Given the description of an element on the screen output the (x, y) to click on. 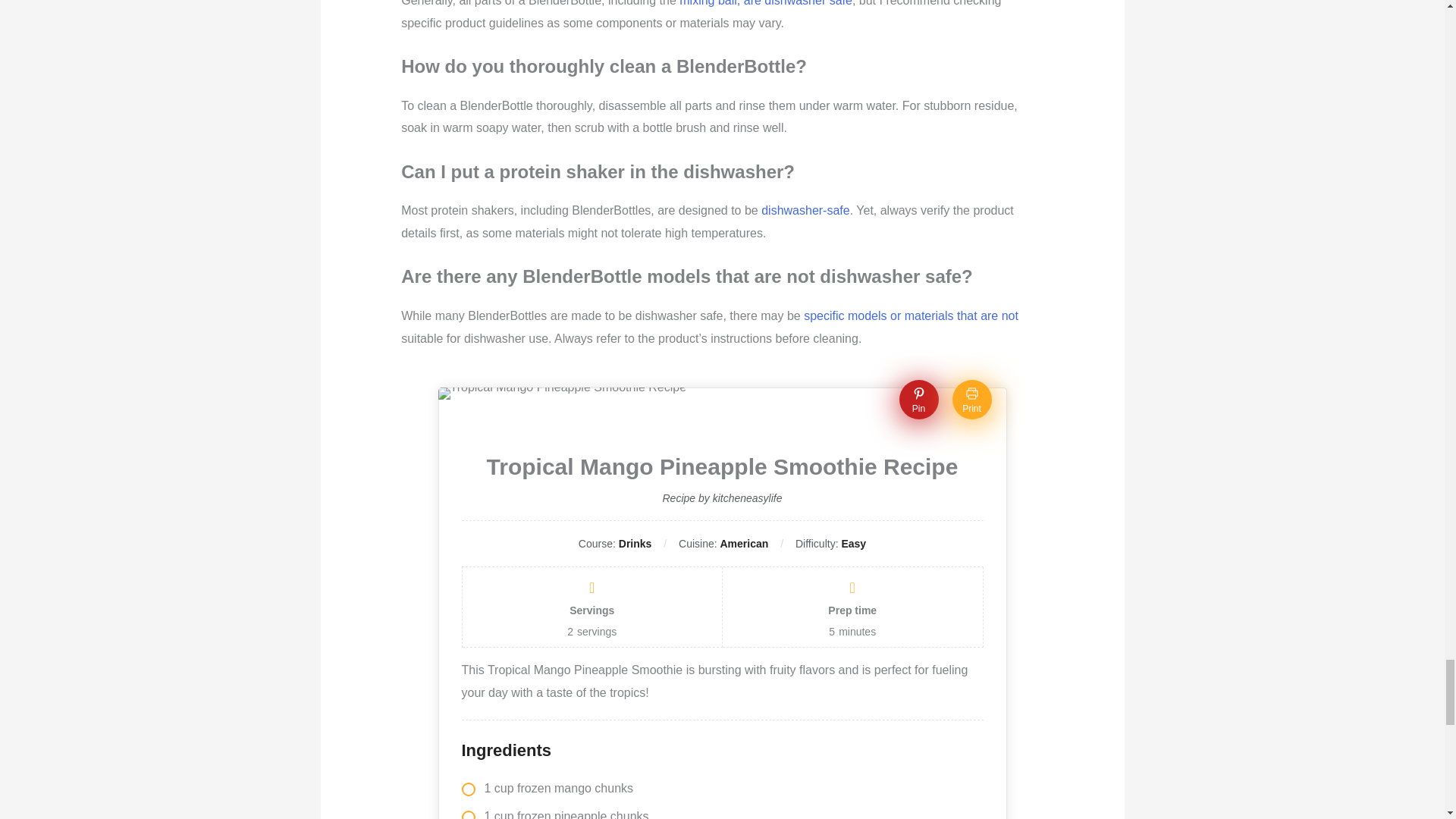
Pin (919, 399)
specific models or materials that are not (910, 315)
mixing ball, are dishwasher safe (765, 3)
dishwasher-safe (805, 210)
Print (971, 399)
Print directions... (971, 399)
